Given the description of an element on the screen output the (x, y) to click on. 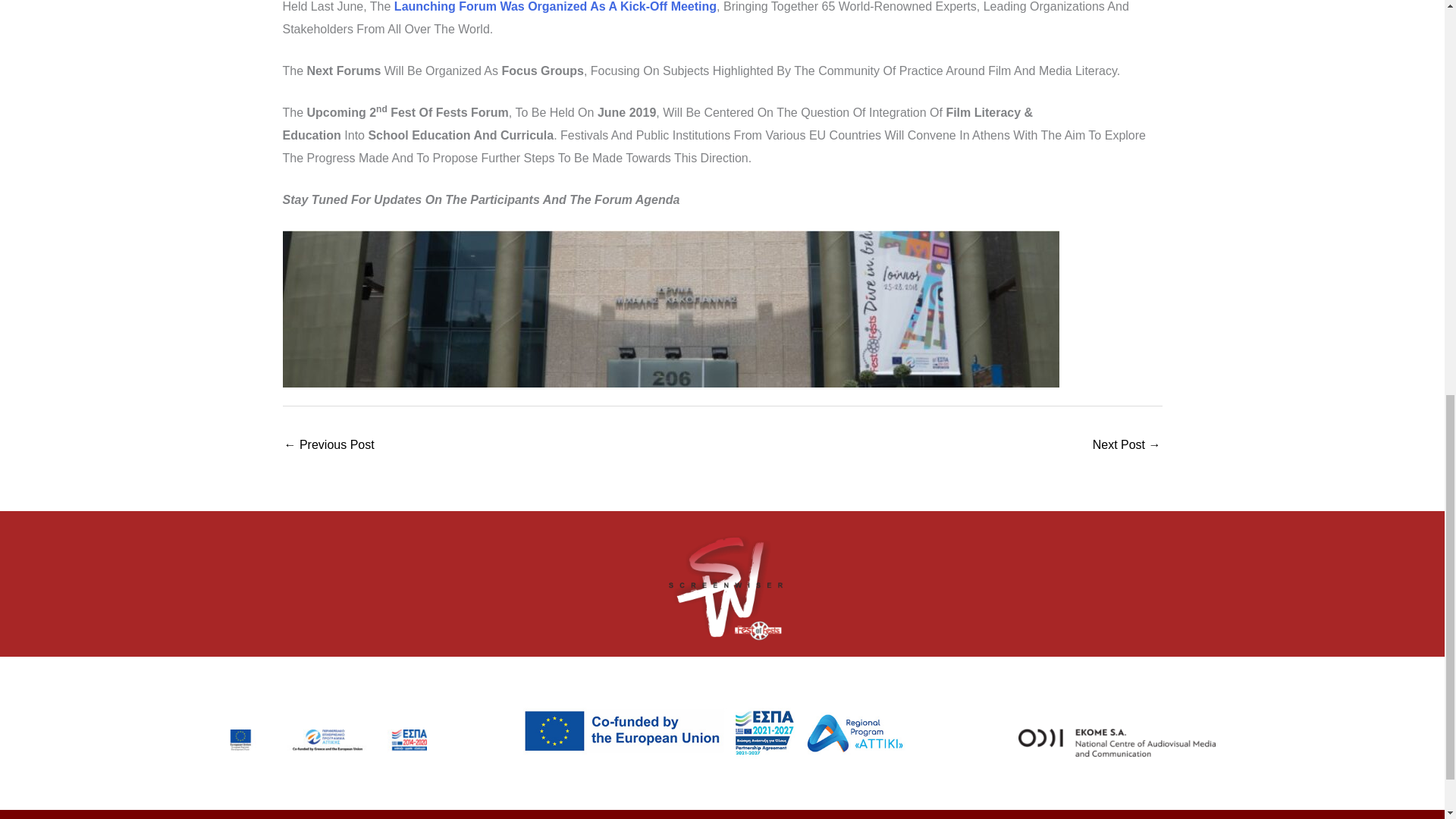
Launching Forum Was Organized As A Kick-Off Meeting (555, 6)
Film Literacy Seminar: Exploring Visual Culture (1126, 446)
